Given the description of an element on the screen output the (x, y) to click on. 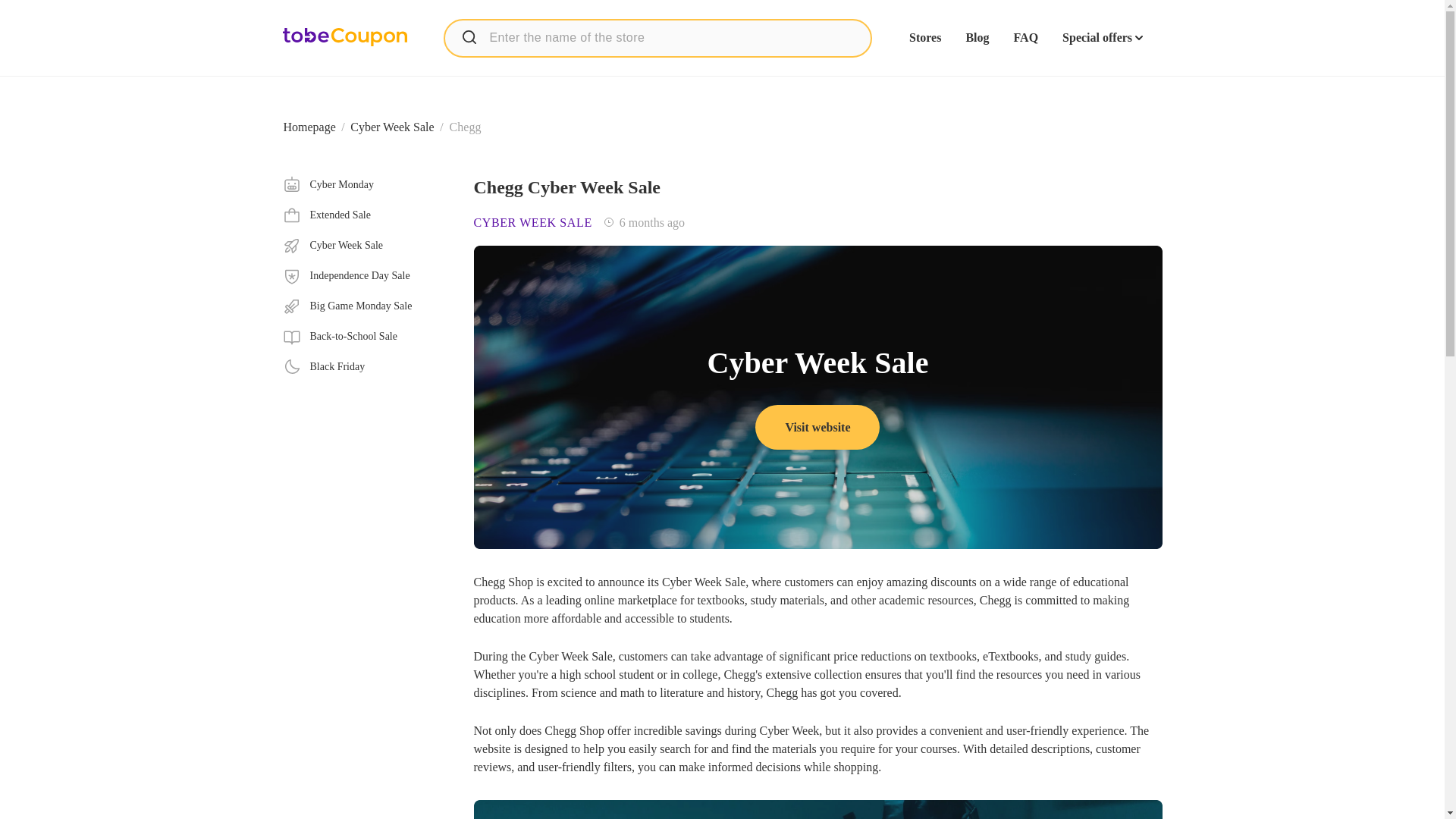
Search (469, 37)
Back-to-School Sale (365, 336)
Stores (924, 37)
Cyber Monday (365, 185)
CYBER WEEK SALE (532, 222)
Blog (976, 37)
Extended Sale (365, 215)
Cyber Week Sale (391, 126)
Visit website (817, 426)
Big Game Monday Sale (365, 306)
Black Friday (365, 366)
Independence Day Sale (365, 275)
FAQ (1025, 37)
Cyber Week Sale (365, 245)
Homepage (309, 126)
